Given the description of an element on the screen output the (x, y) to click on. 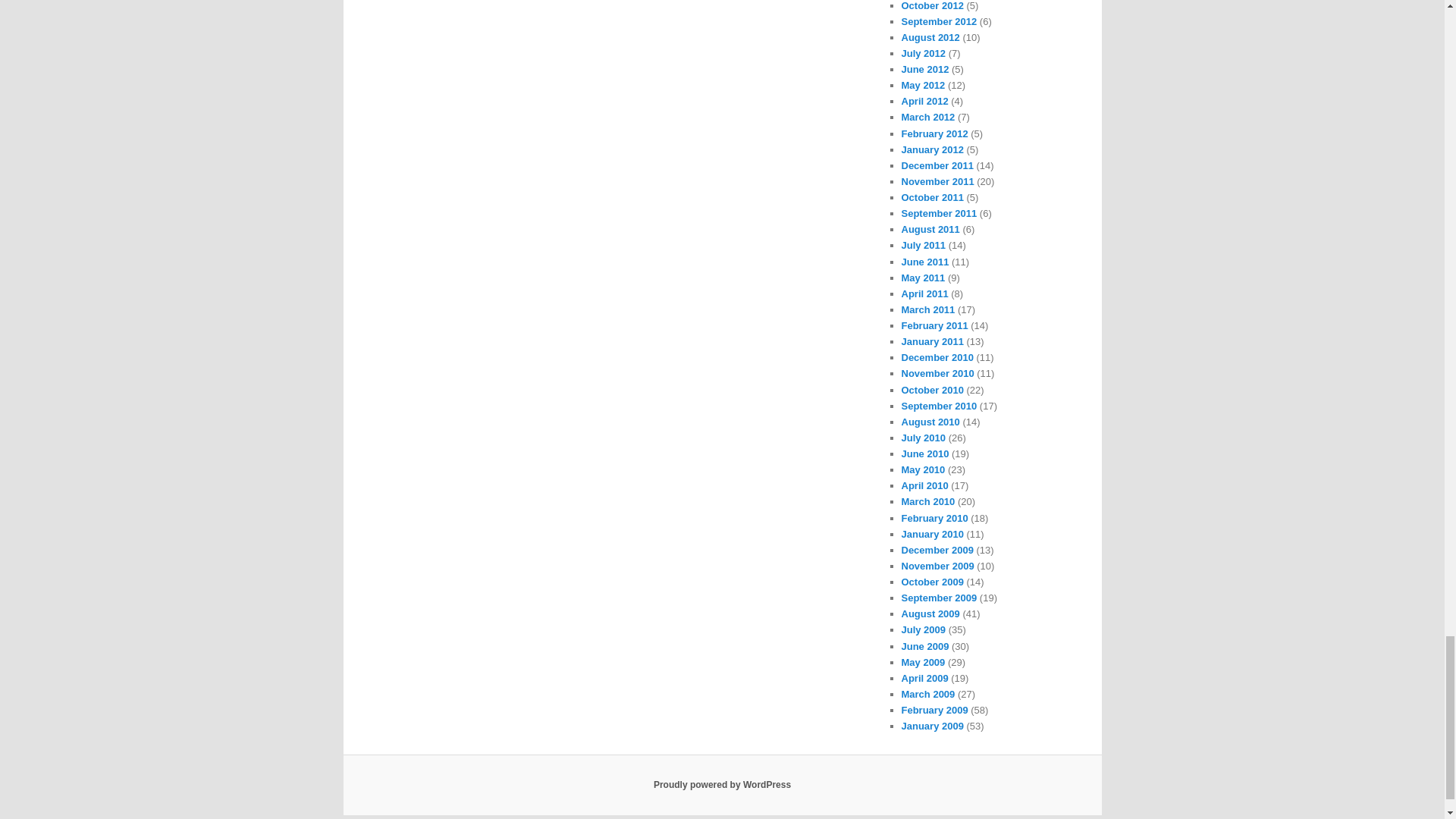
Semantic Personal Publishing Platform (721, 784)
